Given the description of an element on the screen output the (x, y) to click on. 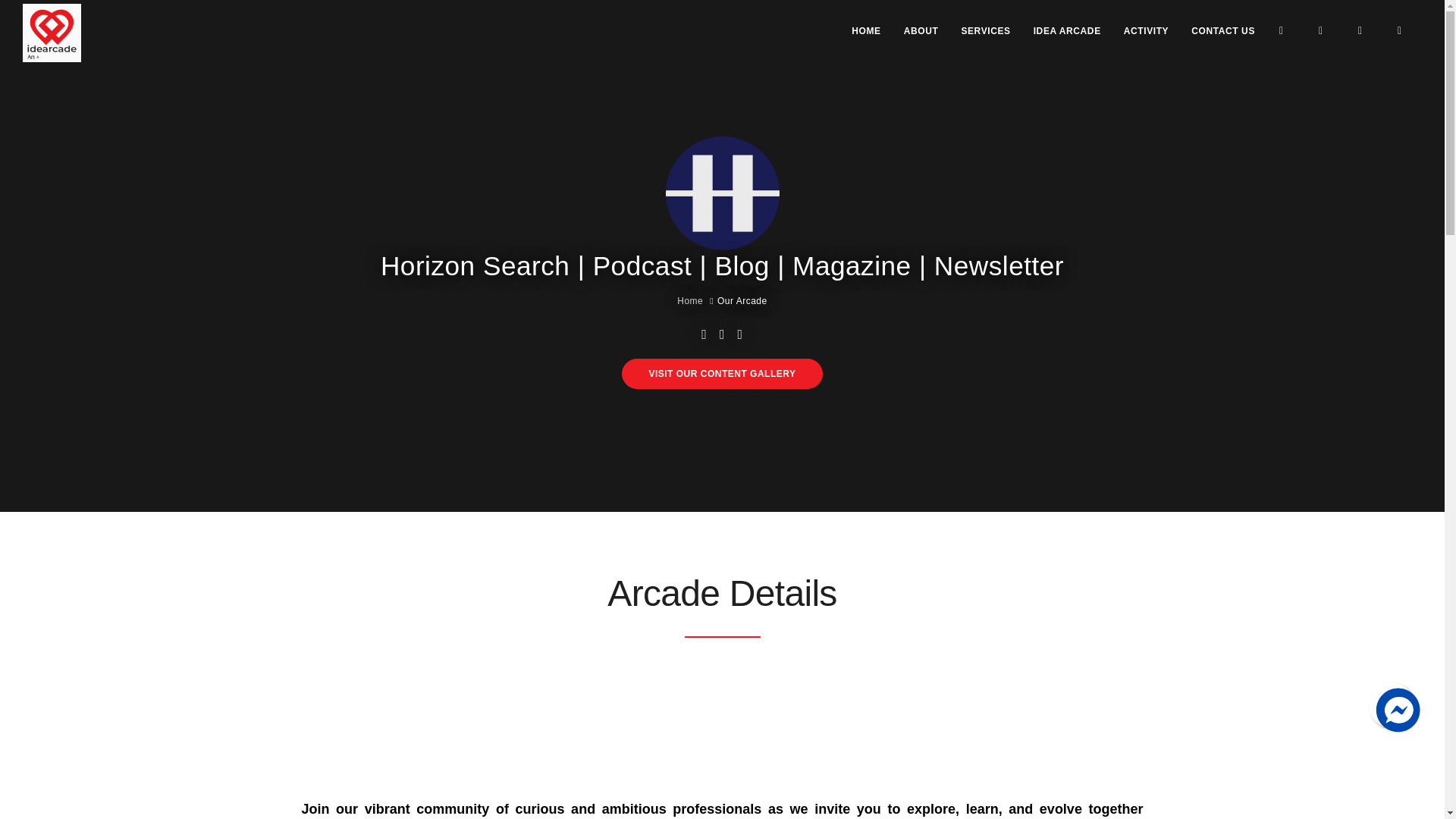
VISIT OUR CONTENT GALLERY (721, 373)
CONTACT US (1222, 31)
Home (690, 300)
ACTIVITY (1146, 31)
IDEA ARCADE (1067, 31)
HOME (866, 31)
ABOUT (921, 31)
Our Arcade (742, 300)
SERVICES (985, 31)
